Given the description of an element on the screen output the (x, y) to click on. 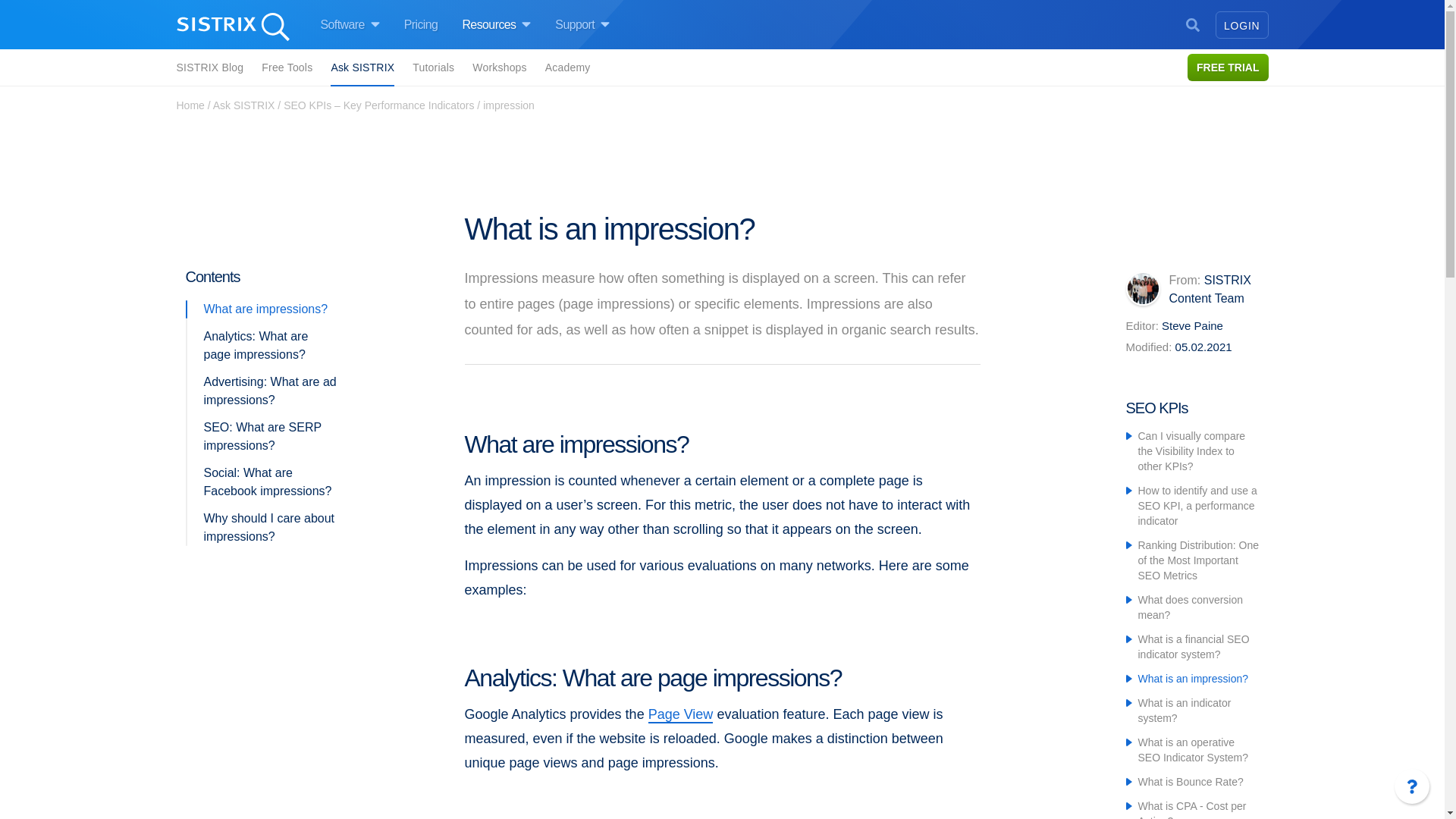
What is an indicator system? (1183, 709)
What is a financial SEO indicator system? (1193, 646)
Workshops (499, 67)
How to identify and use a SEO KPI, a performance indicator (1196, 505)
What is an operative SEO Indicator System? (1192, 749)
Software (349, 25)
Ranking Distribution: One of the Most Important SEO Metrics (1198, 559)
Home (189, 105)
Ranking Distribution: One of the Most Important SEO Metrics (1198, 559)
FREE TRIAL (1228, 67)
Ask SISTRIX (243, 105)
Can I visually compare the Visibility Index to other KPIs? (1190, 450)
Support (582, 25)
Ask SISTRIX (362, 68)
How to identify and use a SEO KPI, a performance indicator (1196, 505)
